Given the description of an element on the screen output the (x, y) to click on. 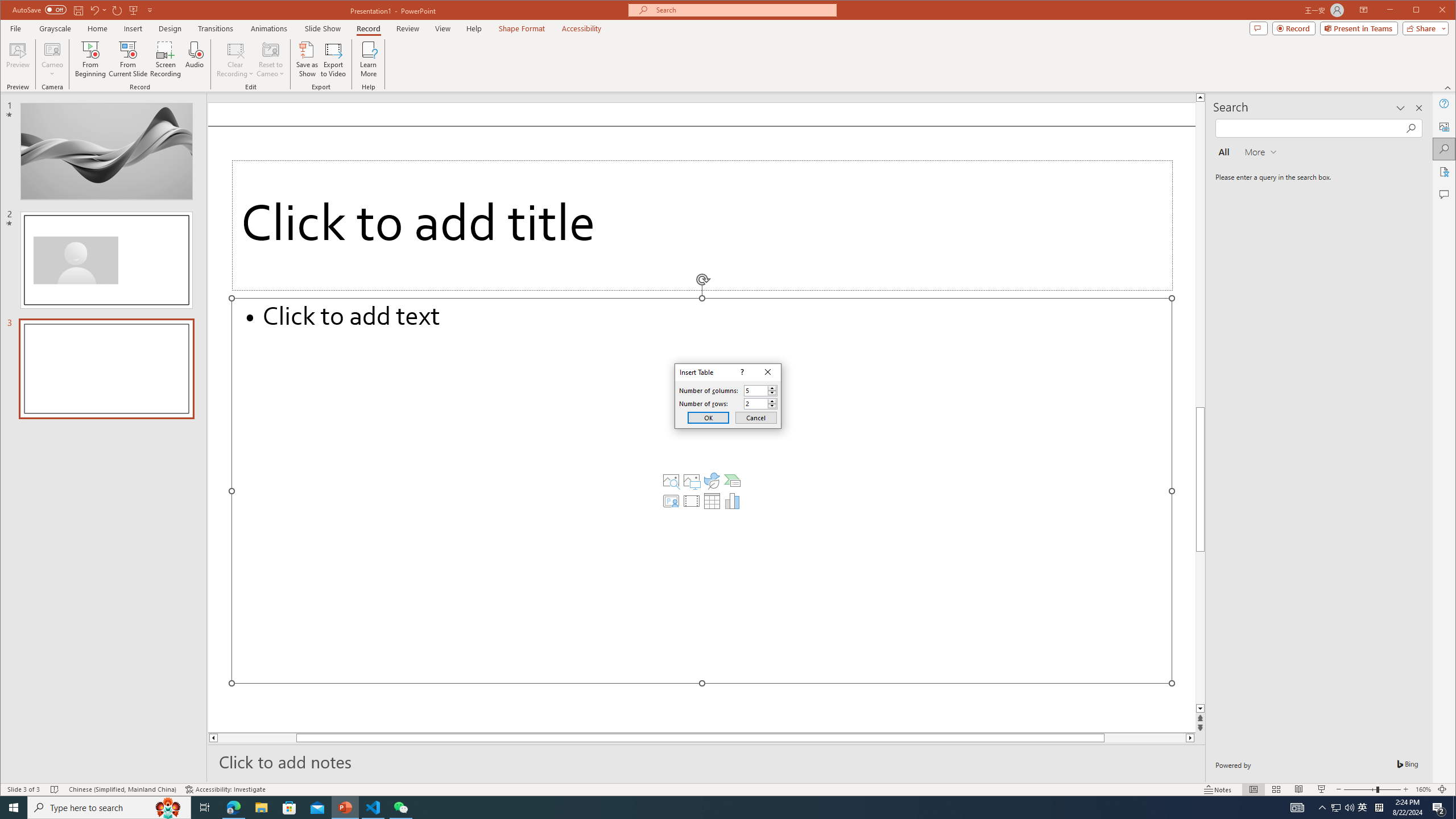
Context help (741, 371)
Export to Video (333, 59)
